Given the description of an element on the screen output the (x, y) to click on. 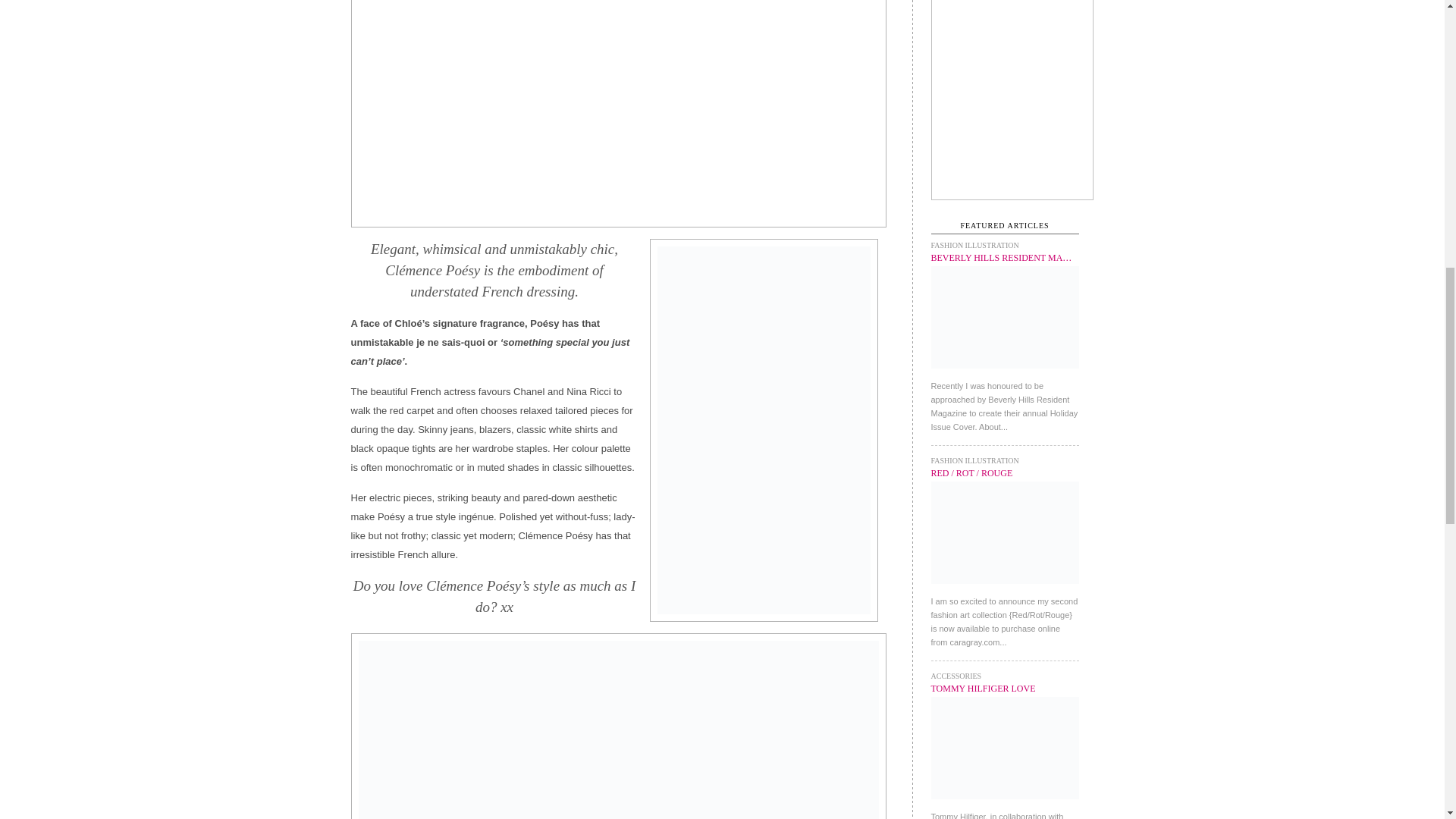
Tommy Hilfiger Love (1004, 803)
Beverly Hills Resident Magazine (1001, 257)
FASHION ILLUSTRATION (975, 244)
Beverly Hills Resident Magazine (1004, 372)
Tommy Hilfiger Love (983, 688)
